Given the description of an element on the screen output the (x, y) to click on. 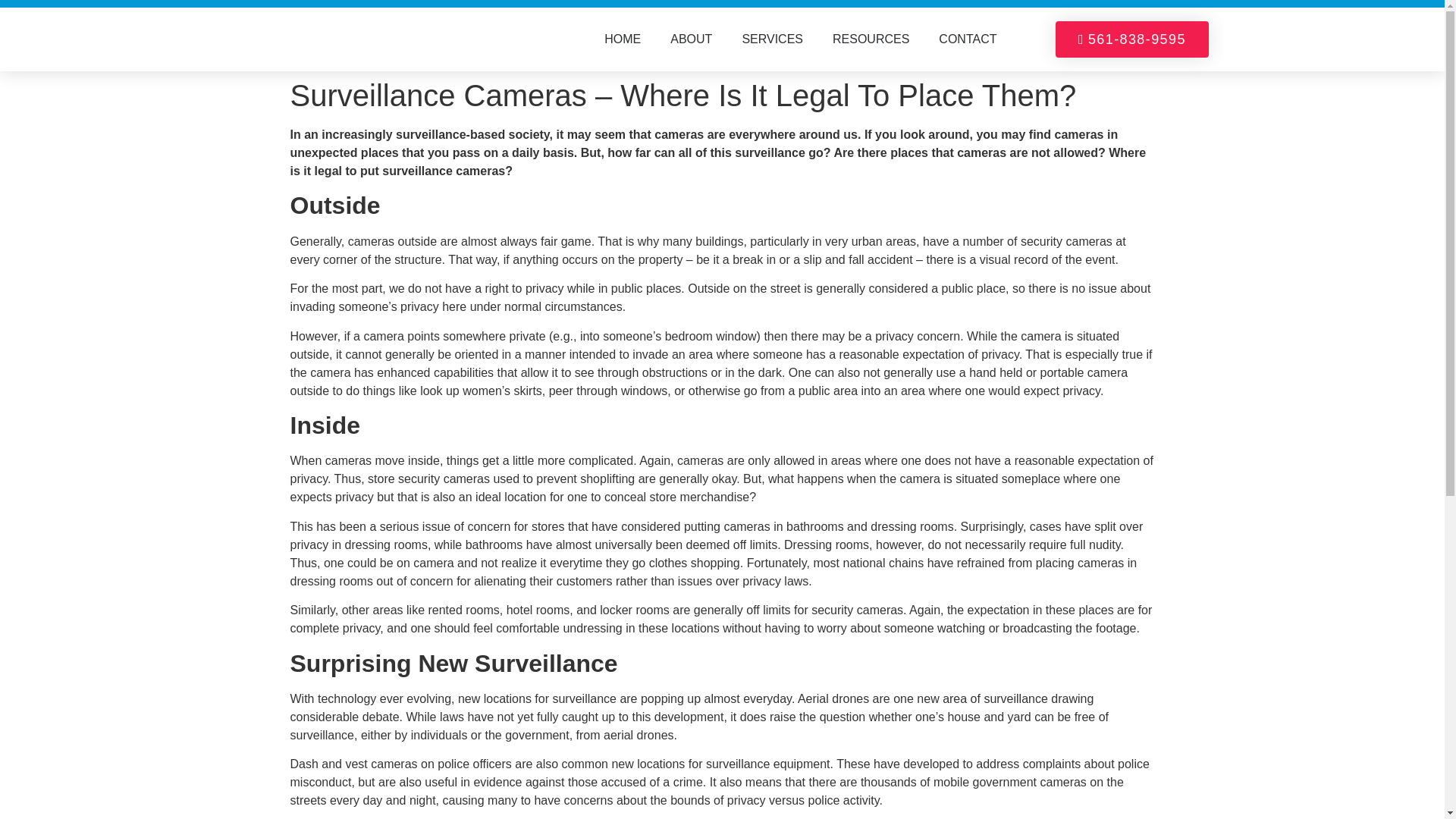
SERVICES (772, 39)
RESOURCES (871, 39)
CONTACT (967, 39)
